Given the description of an element on the screen output the (x, y) to click on. 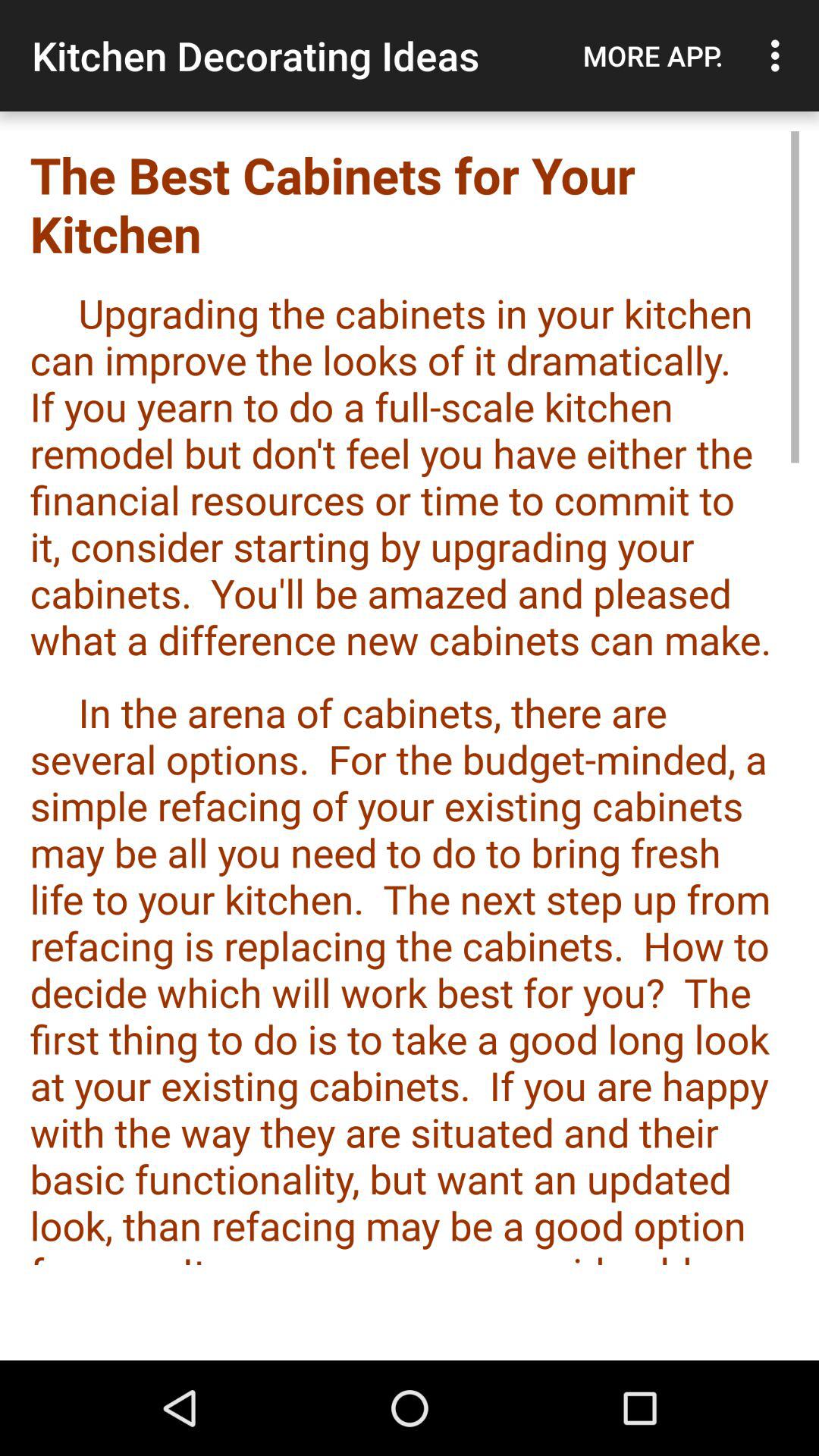
click icon next to more app. icon (779, 55)
